Given the description of an element on the screen output the (x, y) to click on. 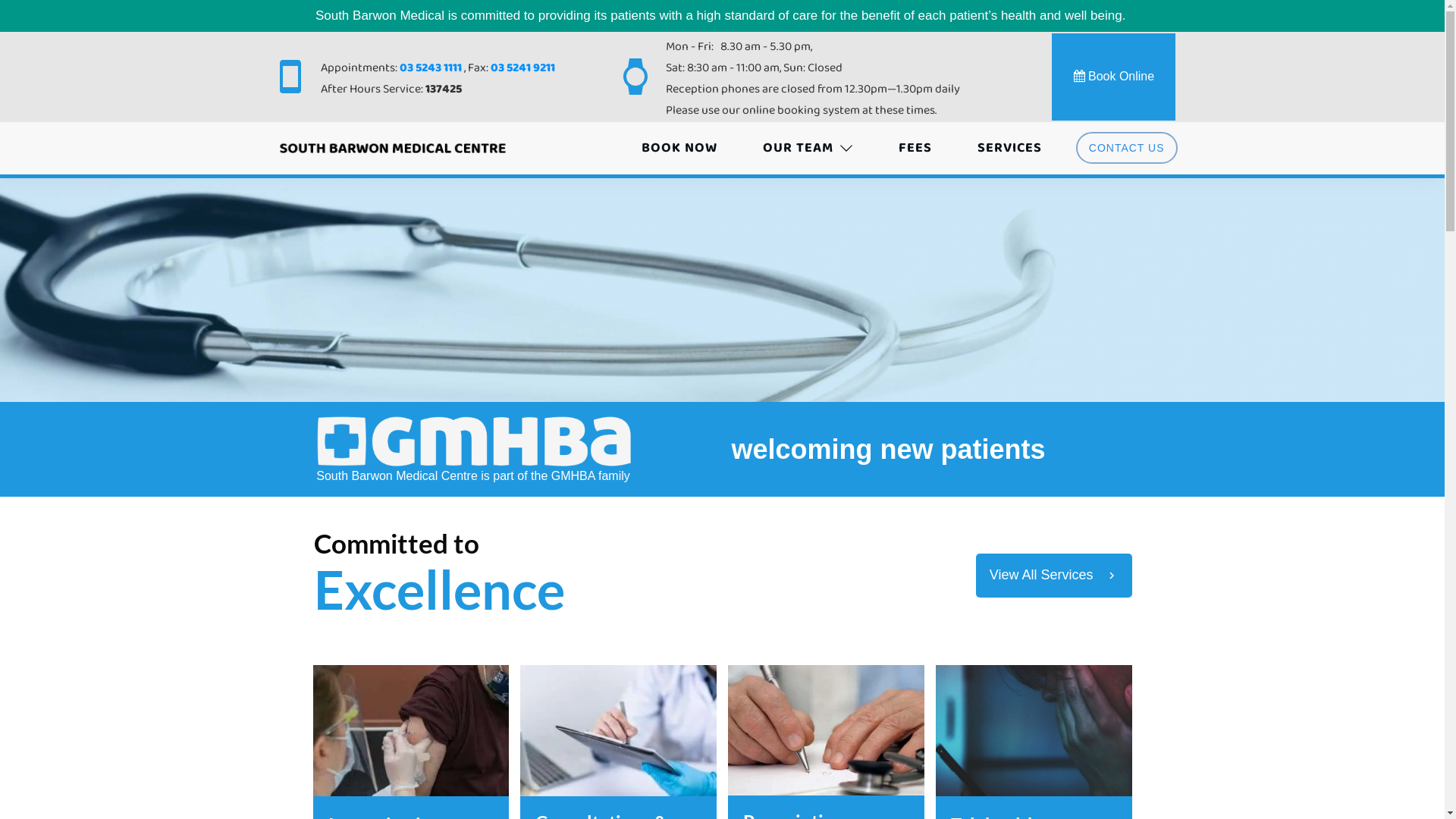
View All Services Element type: text (1053, 575)
GMHBA Element type: hover (472, 440)
telehealth_consultations Element type: hover (1033, 730)
prescription-request Element type: hover (833, 730)
BOOK NOW Element type: text (679, 147)
steven-cornfield-jWPNYZdGz78-unsplash (1) Element type: hover (410, 730)
Book Online Element type: text (1113, 75)
adult-4402808_1920 Element type: hover (618, 730)
03 5241 9211 Element type: text (522, 67)
CONTACT US Element type: text (1126, 147)
SERVICES Element type: text (1009, 147)
FEES Element type: text (914, 147)
03 5243 1111 Element type: text (430, 67)
OUR TEAM Element type: text (807, 147)
